Given the description of an element on the screen output the (x, y) to click on. 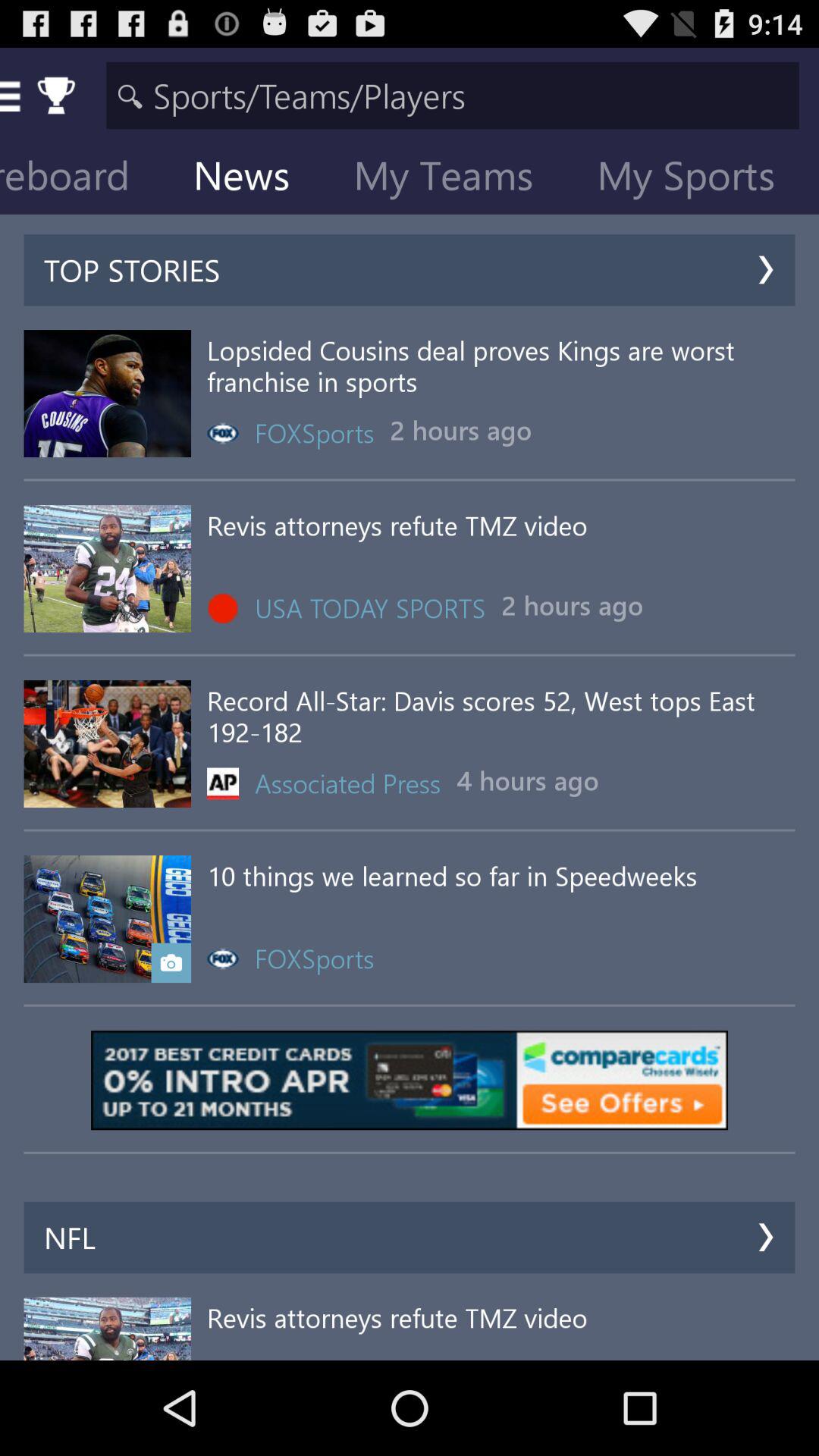
press the item next to scoreboard item (253, 178)
